Given the description of an element on the screen output the (x, y) to click on. 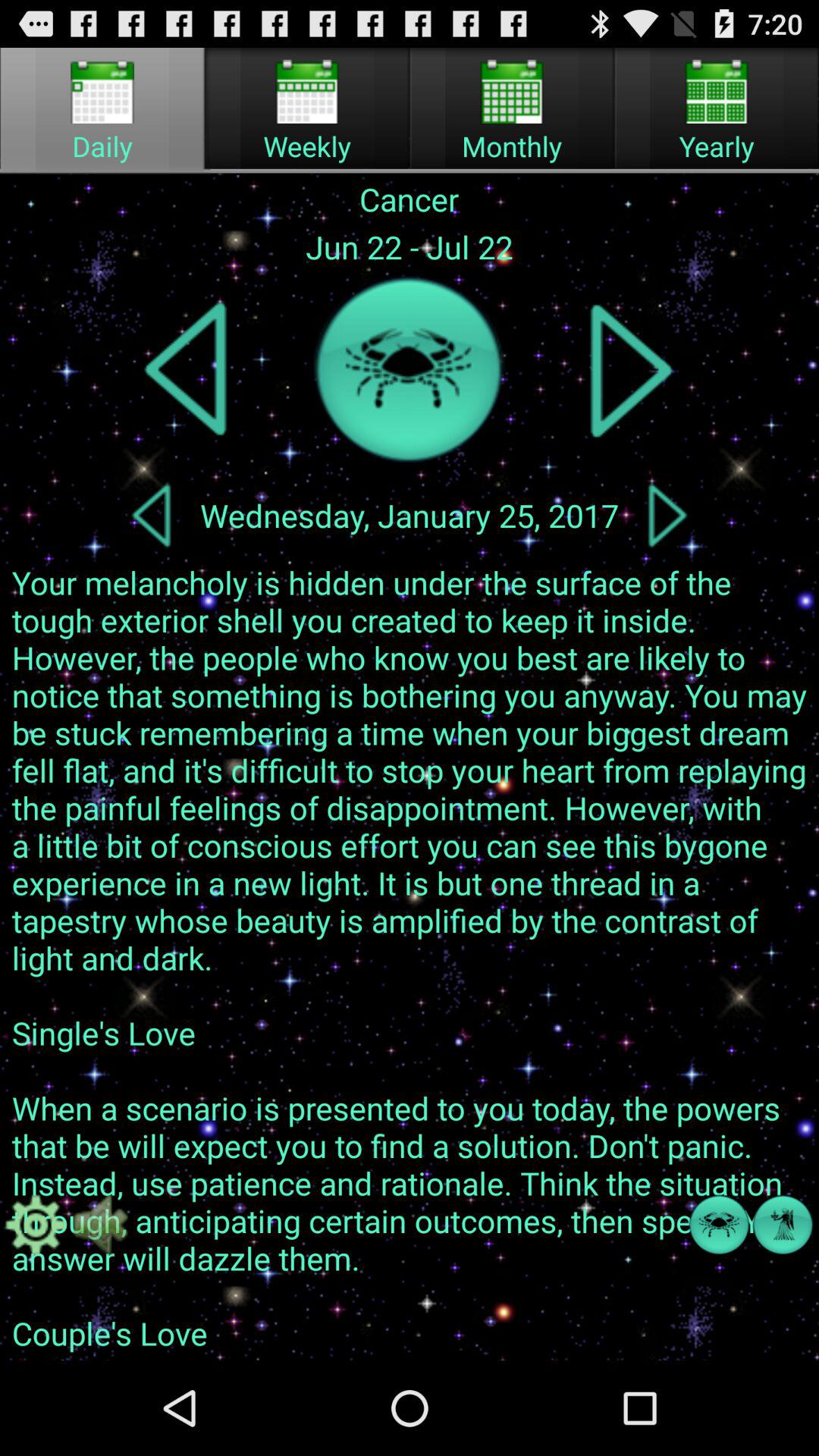
go to next zodiac sign (631, 369)
